Given the description of an element on the screen output the (x, y) to click on. 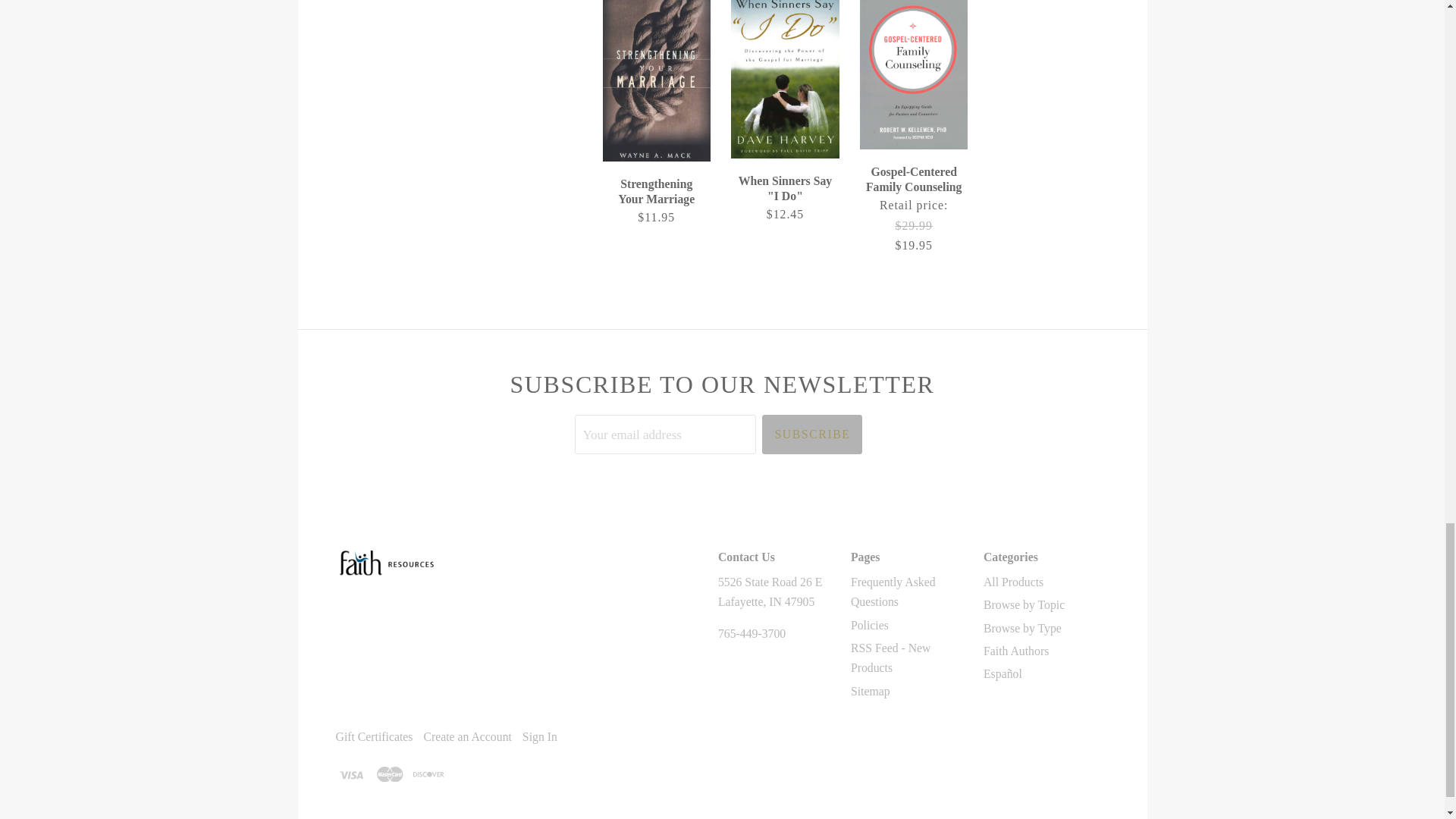
Gospel-Centered Family Counseling (913, 209)
Visa (349, 774)
Discover (428, 774)
Strengthening Your Marriage (656, 202)
When Sinners Say "I Do" (784, 199)
Subscribe (811, 434)
Mastercard (389, 774)
